Given the description of an element on the screen output the (x, y) to click on. 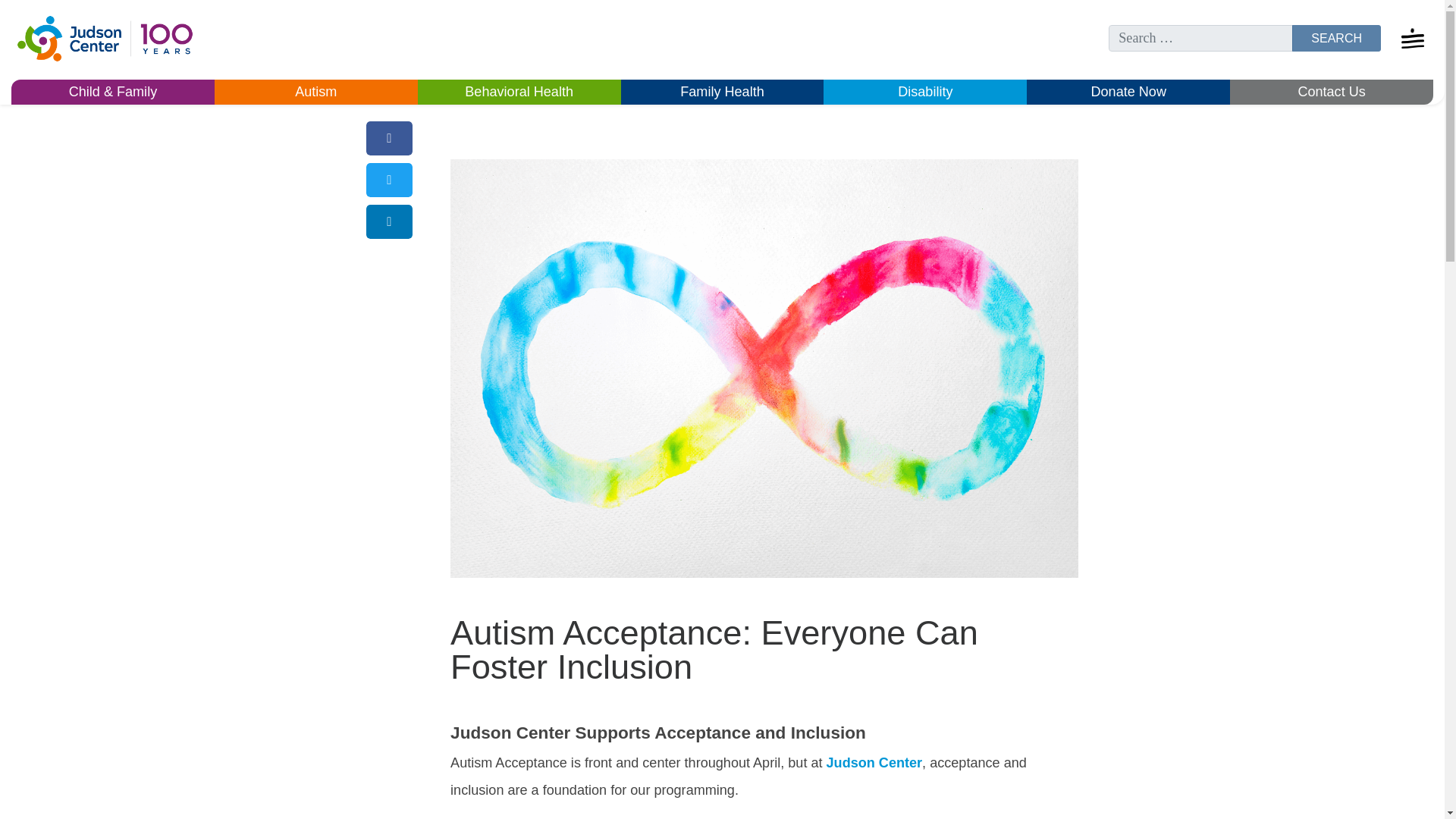
Contact Us (1331, 92)
Judson Center (875, 762)
Family Health (722, 92)
Behavioral Health (519, 92)
Donate Now (1128, 92)
Autism (315, 92)
Disability (925, 92)
Search (1336, 38)
Family Health (722, 92)
Autism (315, 92)
